Given the description of an element on the screen output the (x, y) to click on. 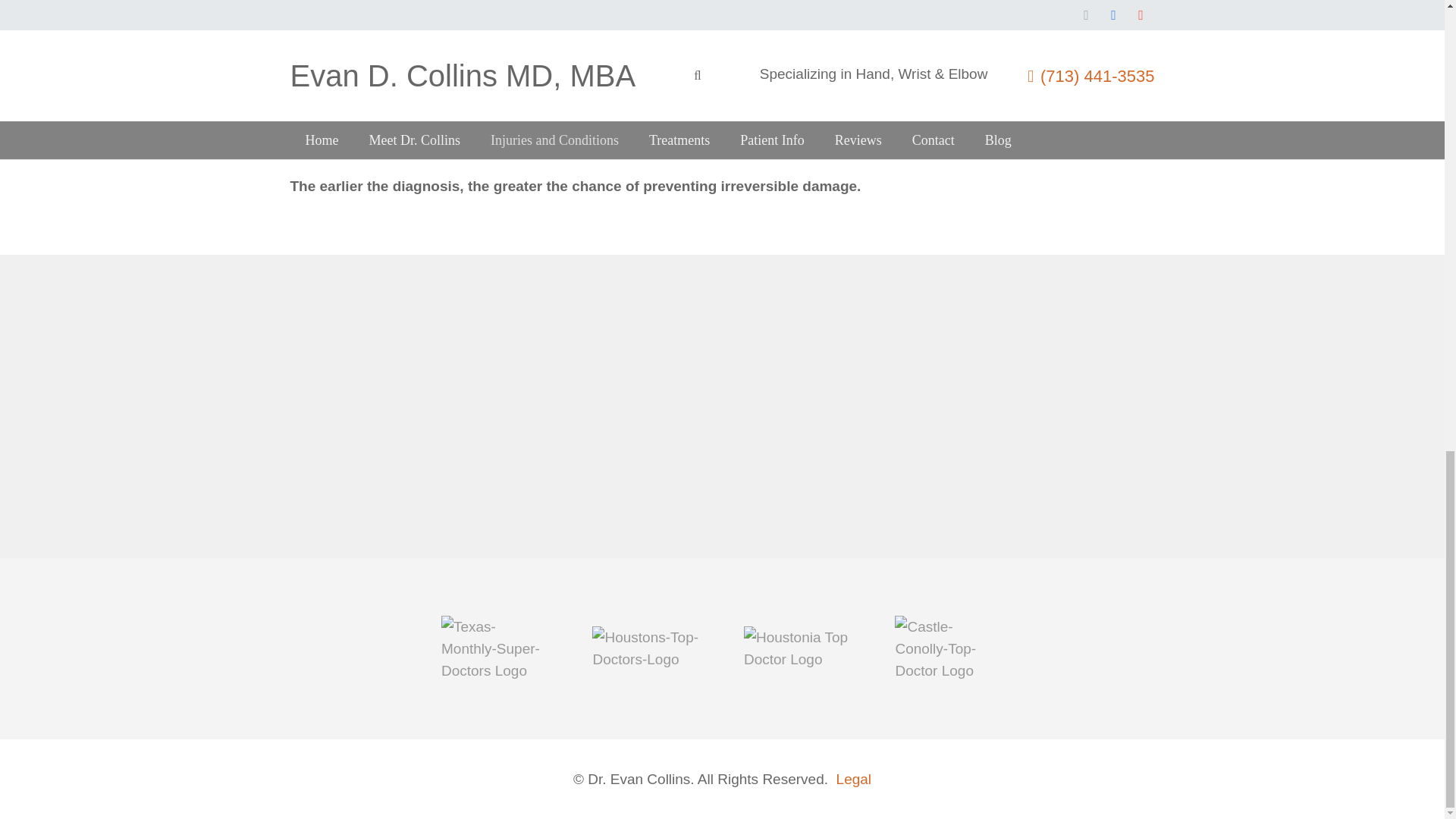
Legal (853, 779)
